Given the description of an element on the screen output the (x, y) to click on. 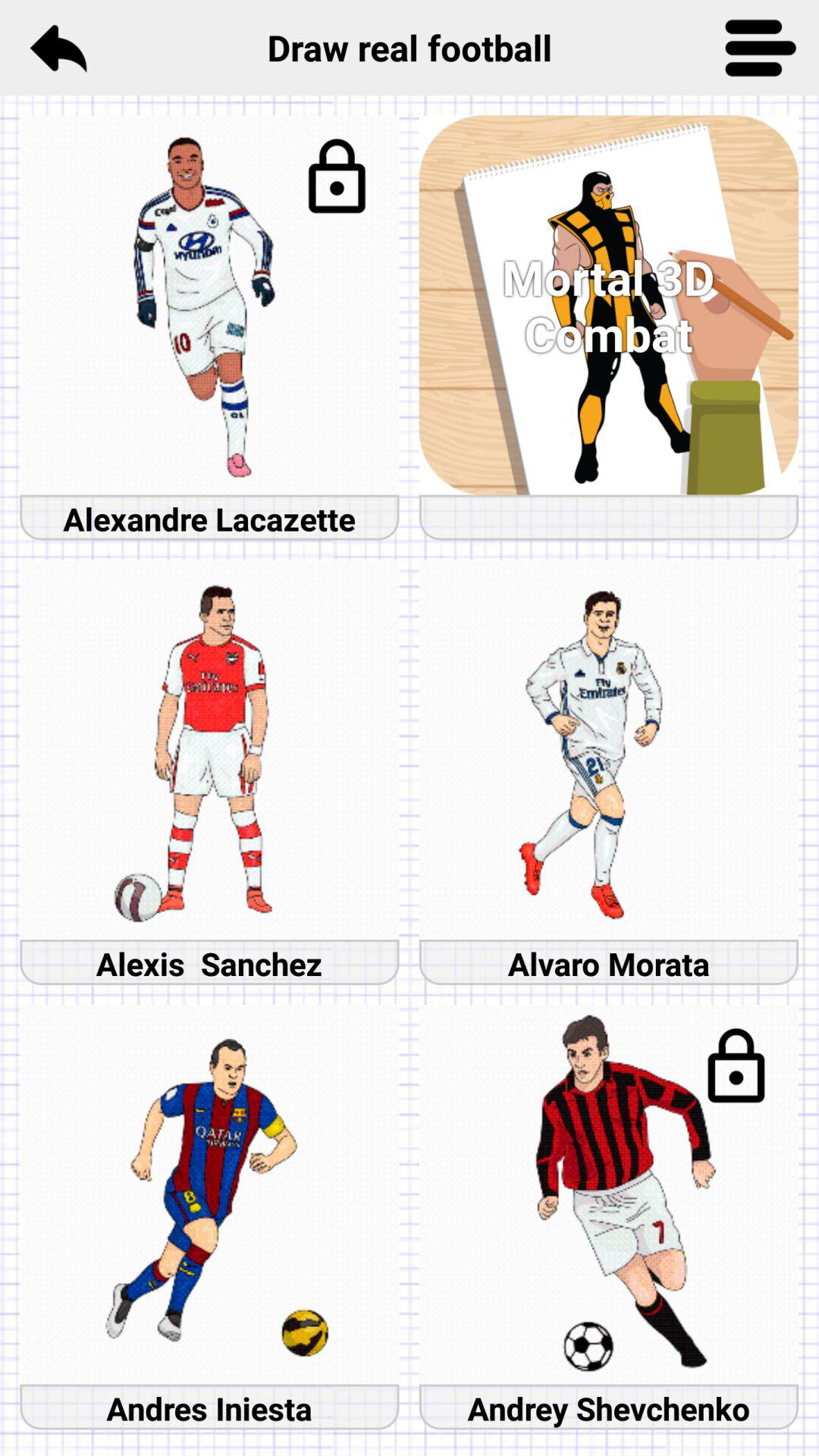
turn off icon to the left of draw real football (58, 47)
